Given the description of an element on the screen output the (x, y) to click on. 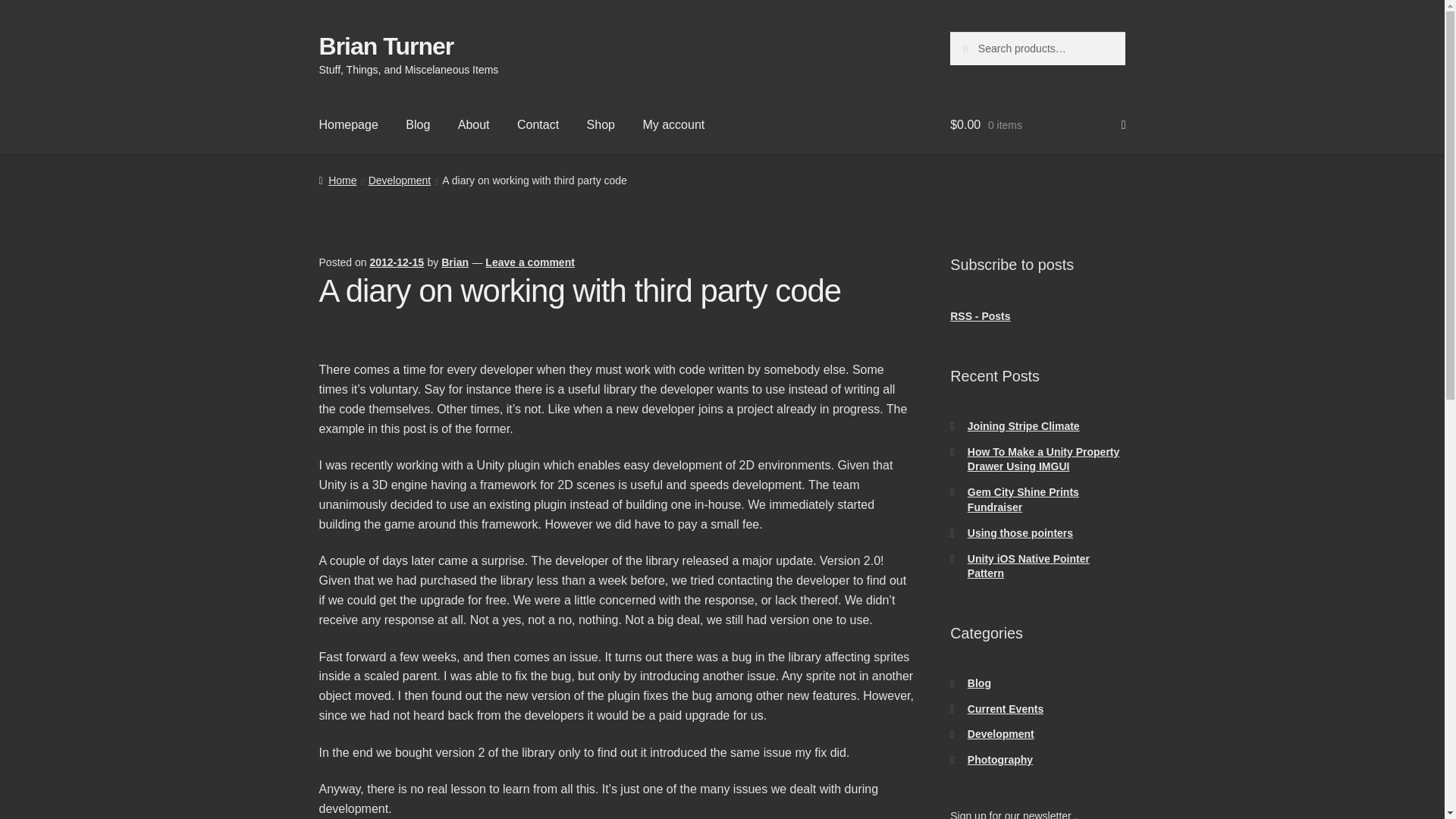
Development (1000, 734)
Gem City Shine Prints Fundraiser (1023, 499)
How To Make a Unity Property Drawer Using IMGUI (1043, 459)
Leave a comment (529, 262)
Photography (1000, 759)
Joining Stripe Climate (1024, 426)
My account (673, 124)
2012-12-15 (396, 262)
Brian (454, 262)
Homepage (348, 124)
Unity iOS Native Pointer Pattern (1028, 565)
Blog (979, 683)
Current Events (1005, 708)
